Given the description of an element on the screen output the (x, y) to click on. 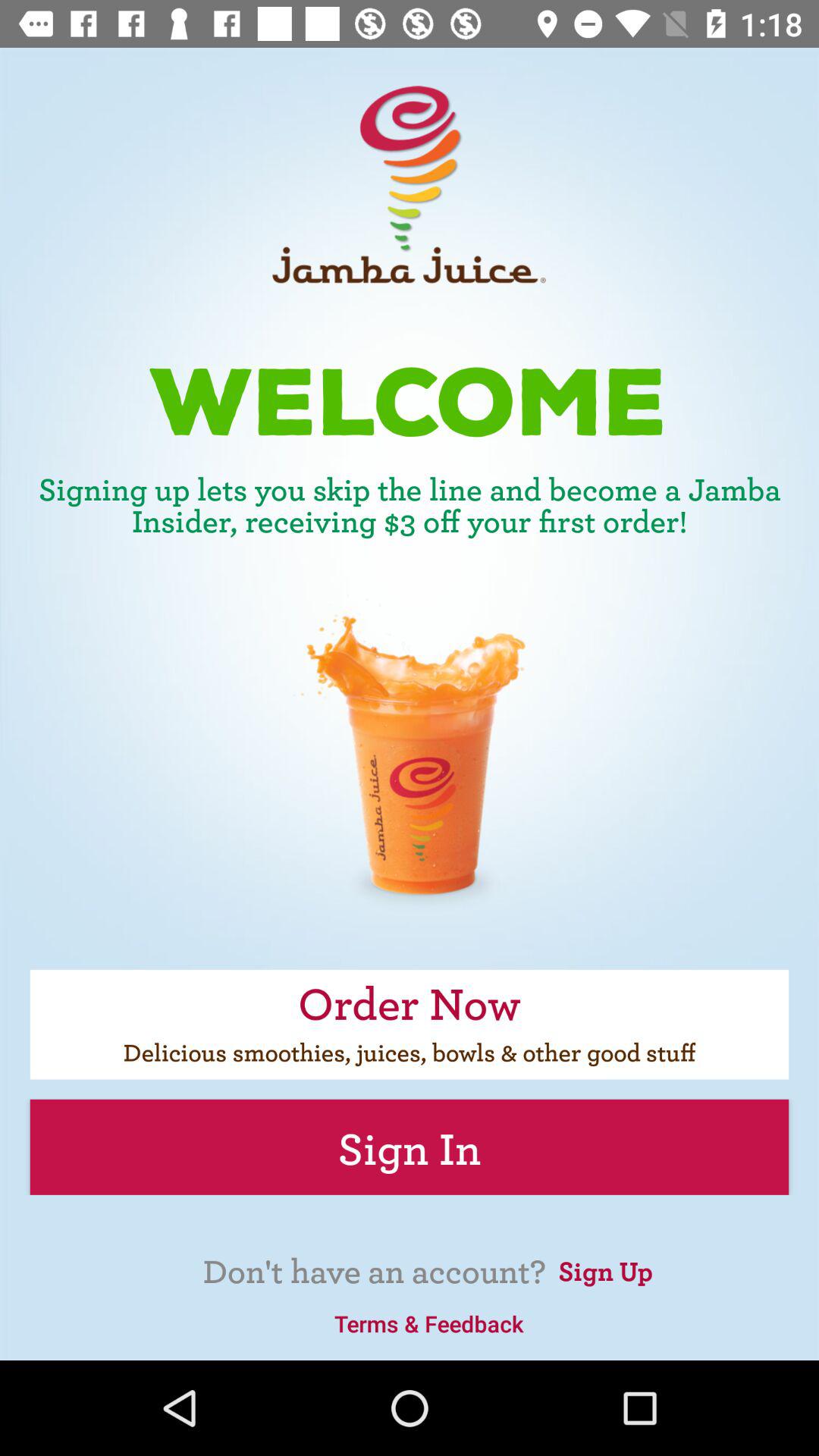
swipe to the sign in icon (409, 1146)
